Given the description of an element on the screen output the (x, y) to click on. 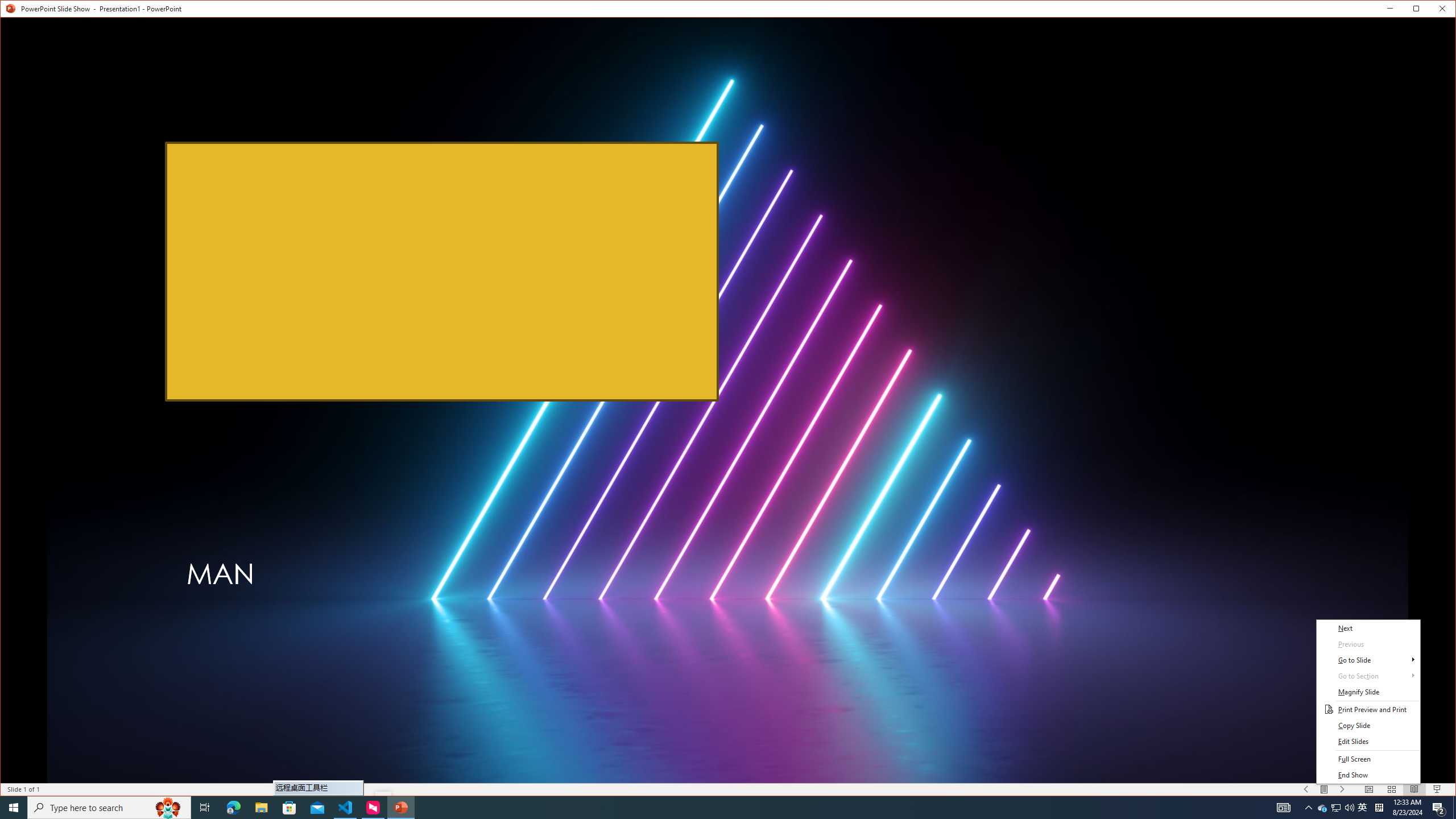
Edit Slides (1368, 741)
End Show (1368, 774)
Copy Slide (1368, 725)
Magnify Slide (1368, 691)
